Given the description of an element on the screen output the (x, y) to click on. 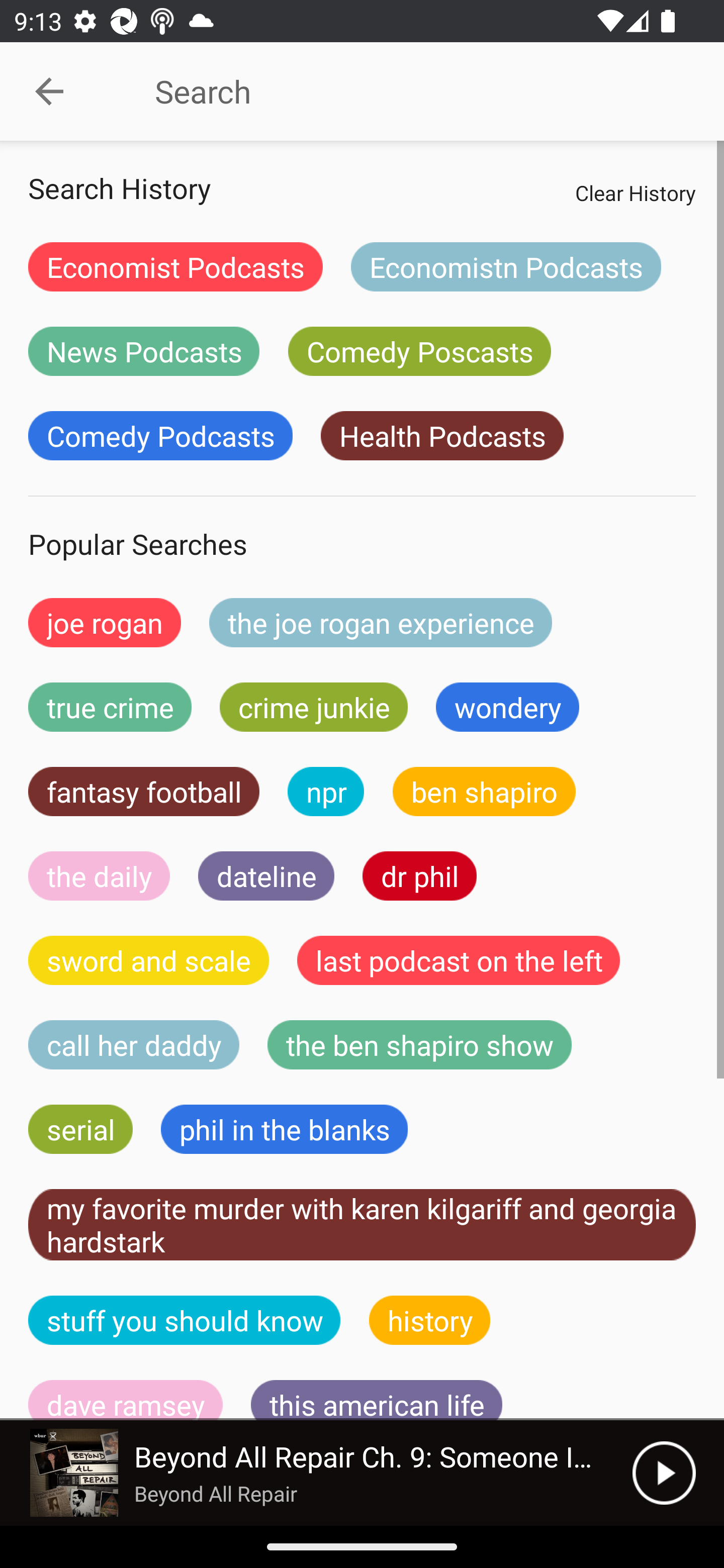
Collapse (49, 91)
Search (407, 91)
Clear History (634, 192)
Economist Podcasts (175, 266)
Economistn Podcasts (506, 266)
News Podcasts (143, 351)
Comedy Poscasts (419, 351)
Comedy Podcasts (160, 435)
Health Podcasts (441, 435)
joe rogan (104, 622)
the joe rogan experience (380, 622)
true crime (109, 707)
crime junkie (313, 707)
wondery (507, 707)
fantasy football (143, 791)
npr (325, 791)
ben shapiro (483, 791)
the daily (99, 875)
dateline (266, 875)
dr phil (419, 875)
sword and scale (148, 960)
last podcast on the left (458, 960)
call her daddy (133, 1044)
the ben shapiro show (419, 1044)
serial (80, 1128)
phil in the blanks (283, 1128)
stuff you should know (184, 1320)
history (429, 1320)
dave ramsey (125, 1399)
this american life (376, 1399)
Play (663, 1472)
